Given the description of an element on the screen output the (x, y) to click on. 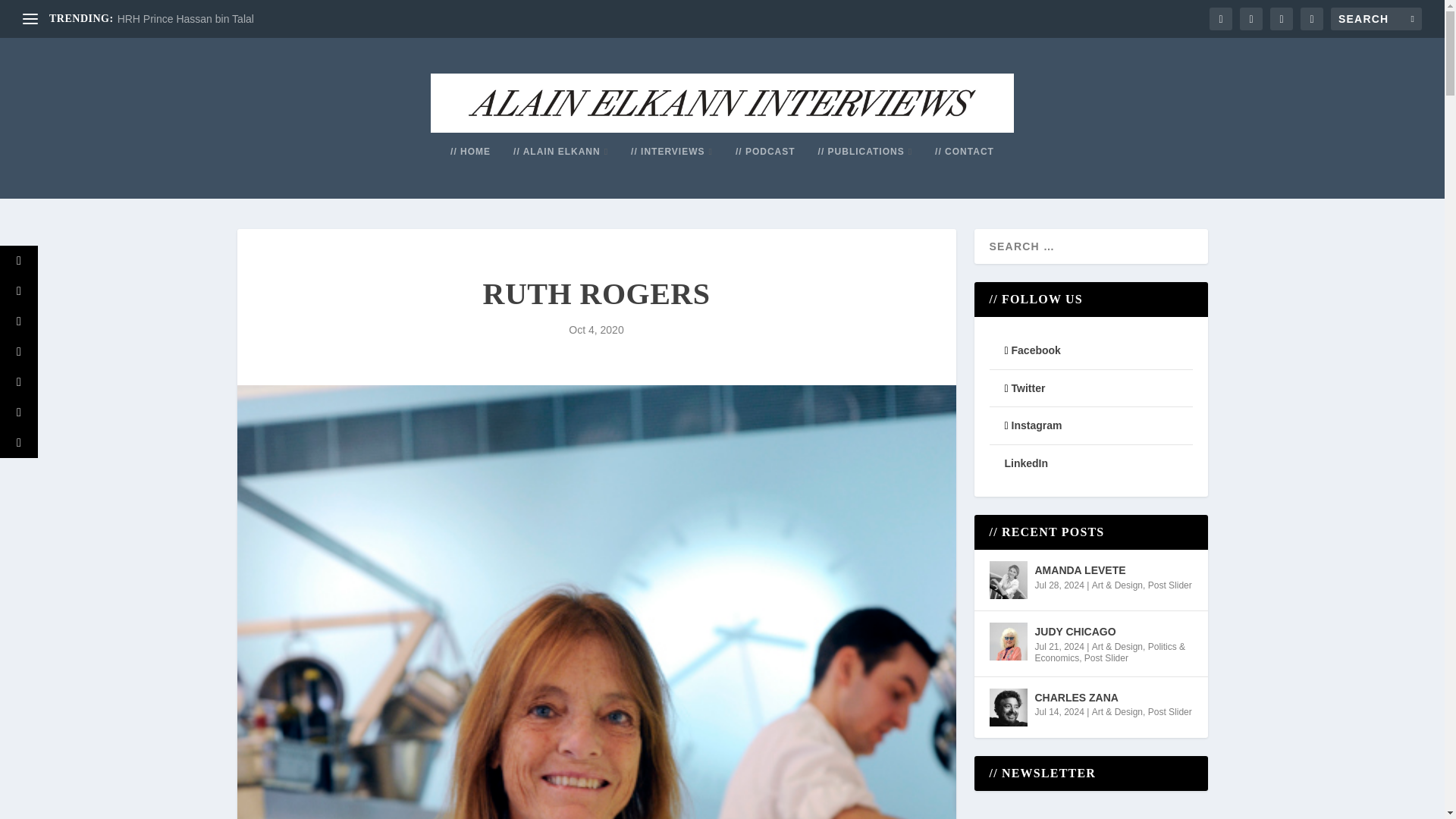
Search for: (1376, 18)
HRH Prince Hassan bin Talal (185, 19)
